Given the description of an element on the screen output the (x, y) to click on. 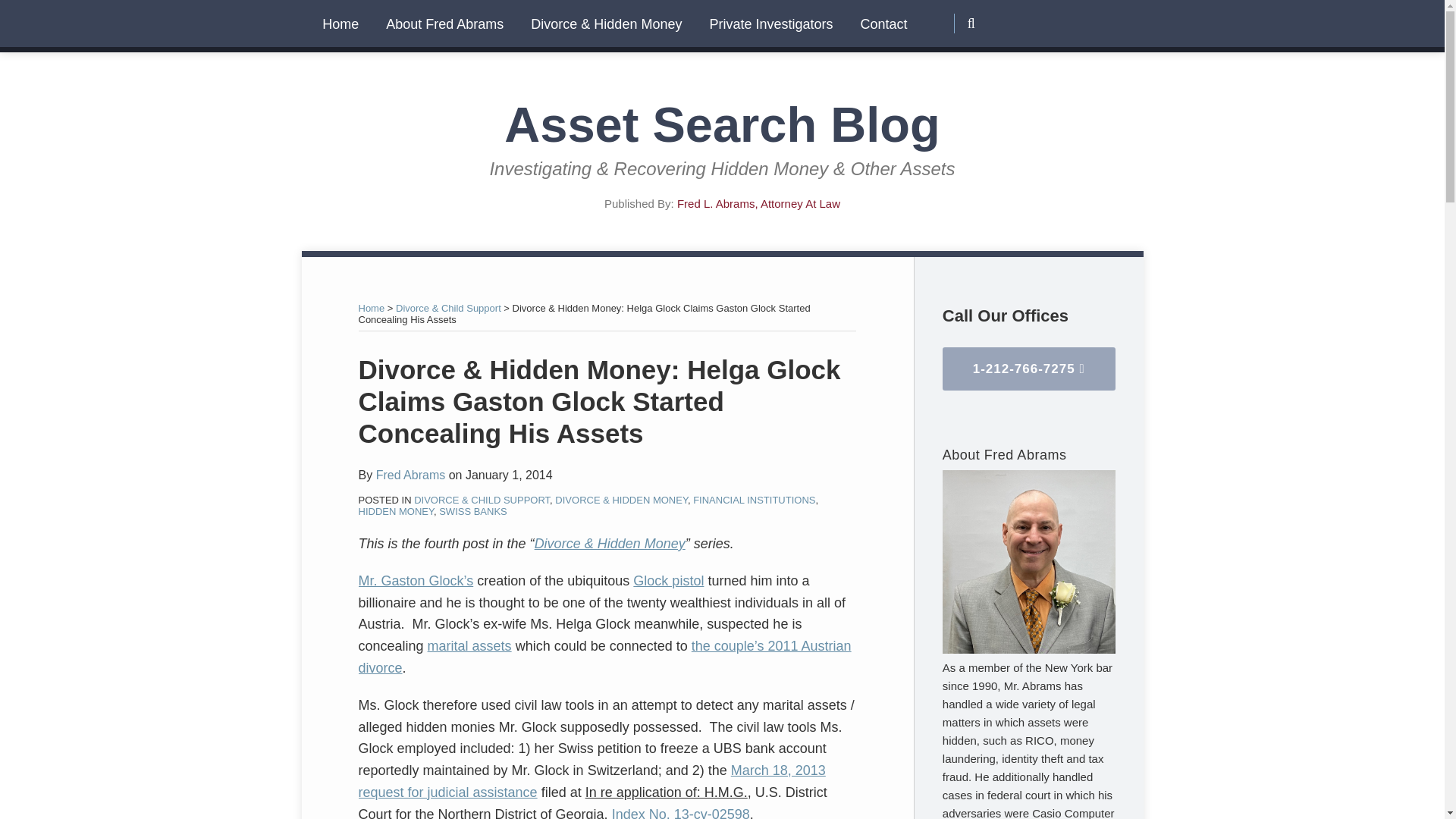
March 18, 2013 request for judicial assistance (591, 781)
Fred L. Abrams, Attorney At Law (758, 203)
Home (339, 24)
FINANCIAL INSTITUTIONS (754, 500)
Glock pistol (668, 580)
Asset Search Blog (721, 124)
Contact (883, 24)
Fred Abrams (410, 474)
Home (371, 307)
HIDDEN MONEY (395, 511)
